Given the description of an element on the screen output the (x, y) to click on. 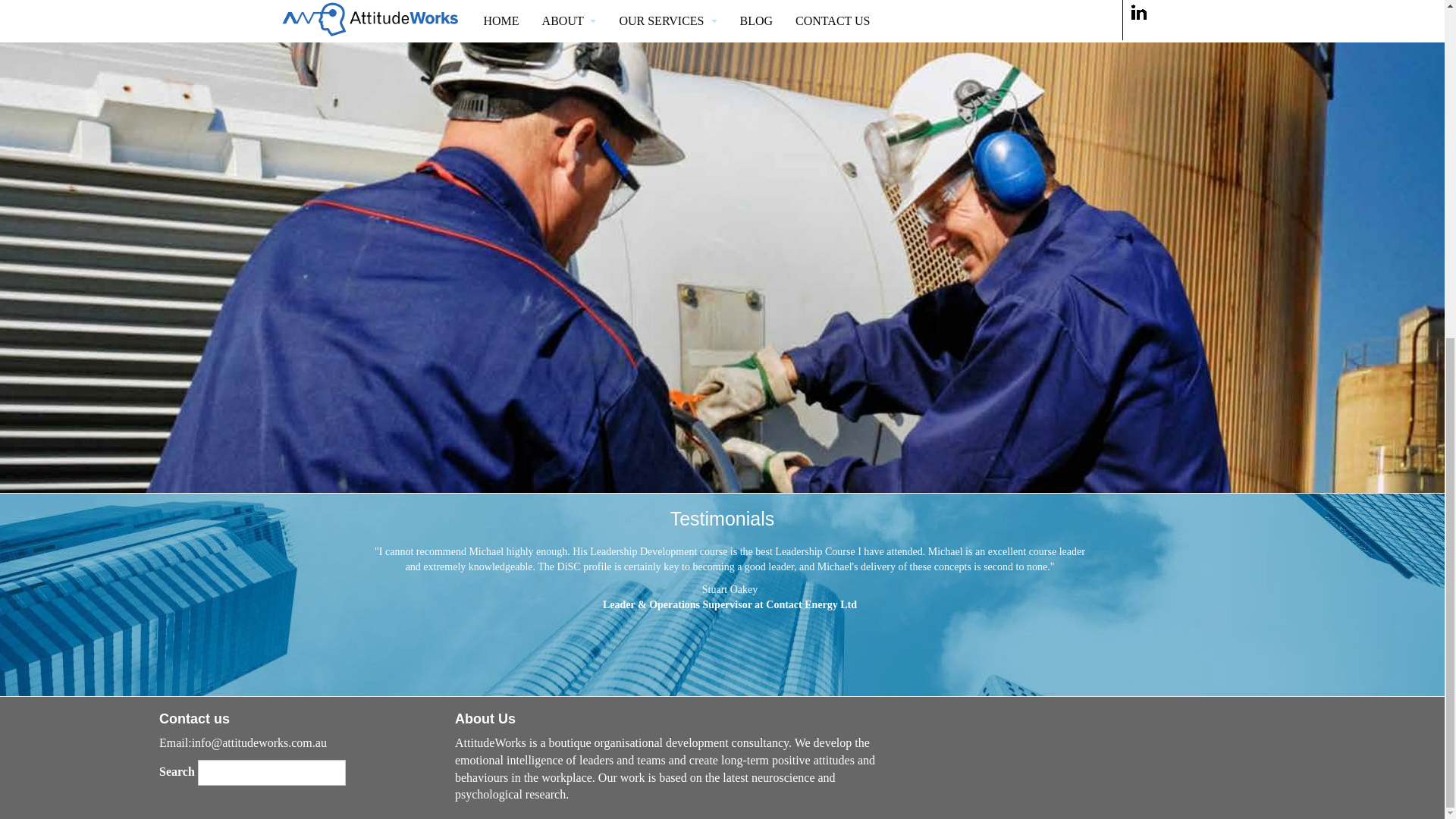
Contact us (194, 718)
